Given the description of an element on the screen output the (x, y) to click on. 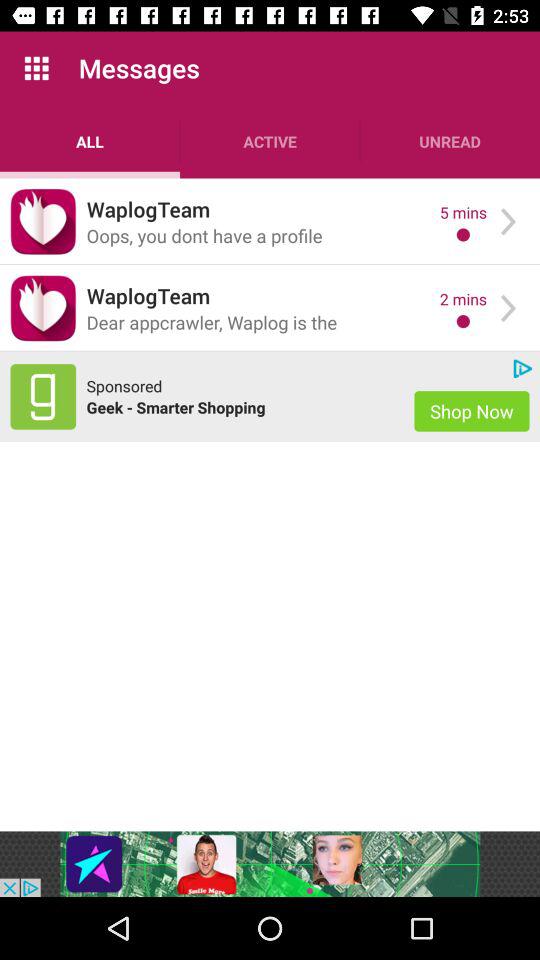
add banner (270, 864)
